Given the description of an element on the screen output the (x, y) to click on. 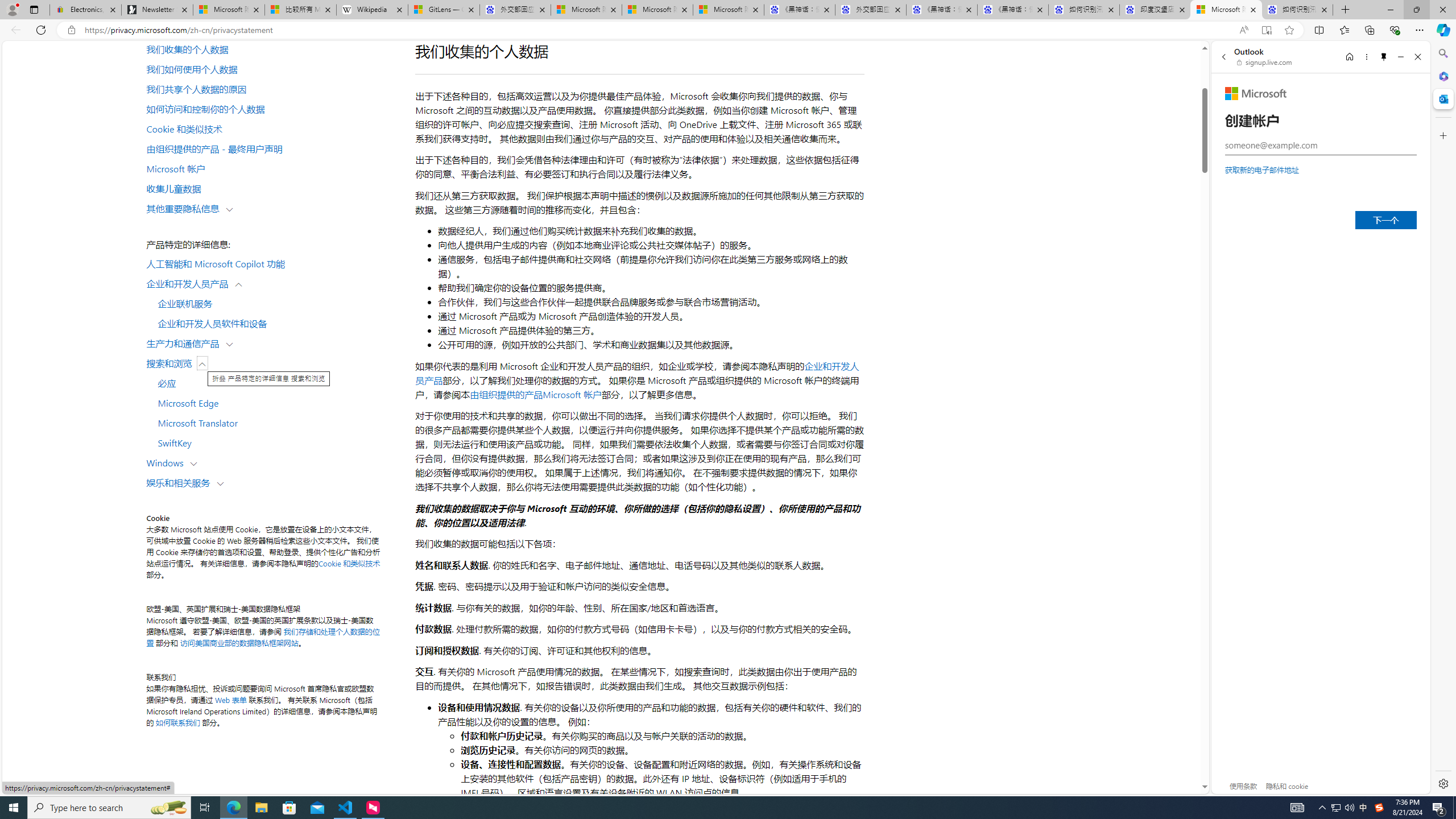
signup.live.com (1264, 61)
